Given the description of an element on the screen output the (x, y) to click on. 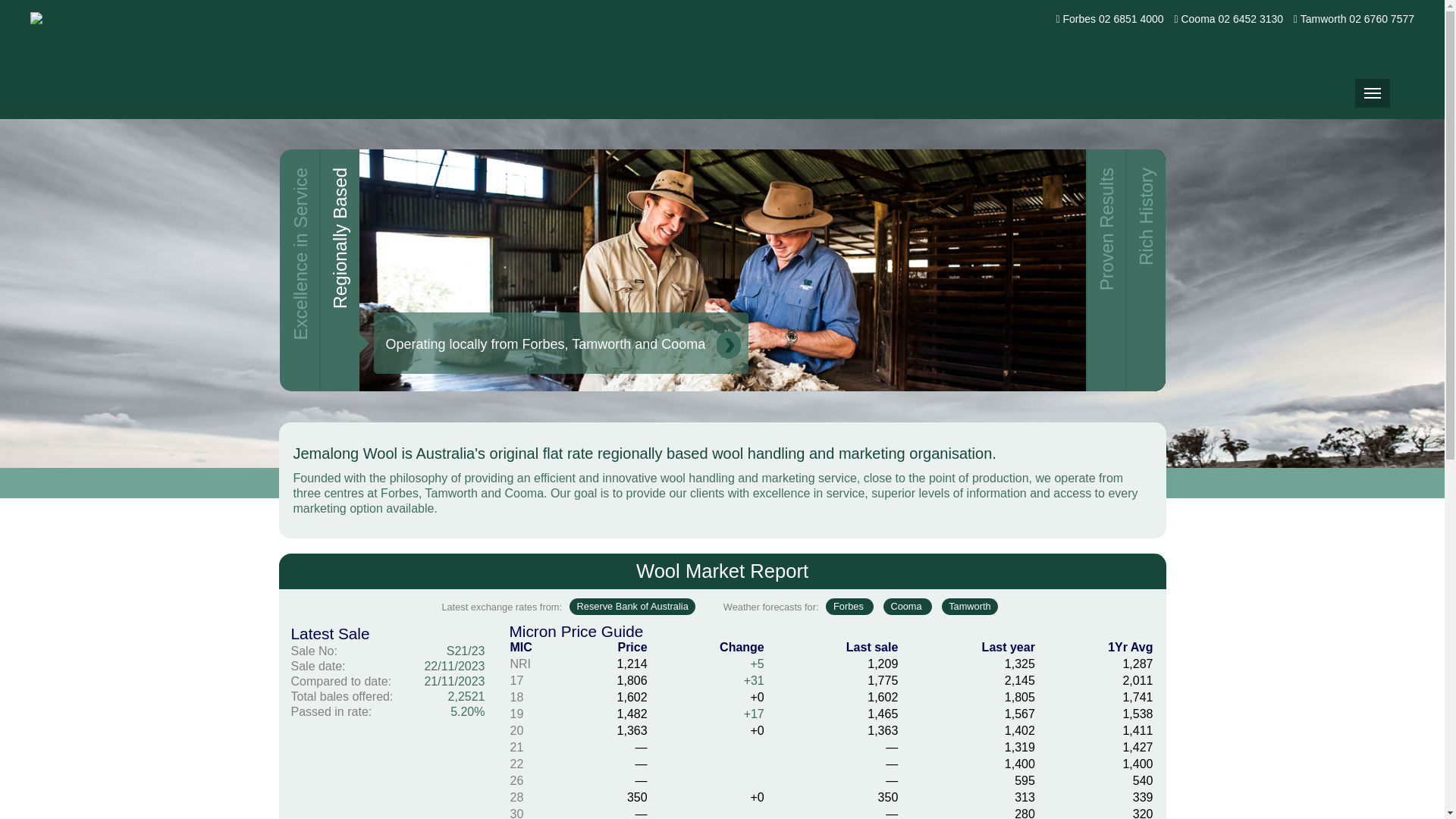
Cooma Element type: text (907, 606)
Tamworth Element type: text (969, 606)
Forbes Element type: text (849, 606)
Skip to main content Element type: text (0, 0)
Reserve Bank of Australia Element type: text (632, 606)
Home Element type: hover (93, 59)
Navigation Element type: hover (1372, 92)
